Given the description of an element on the screen output the (x, y) to click on. 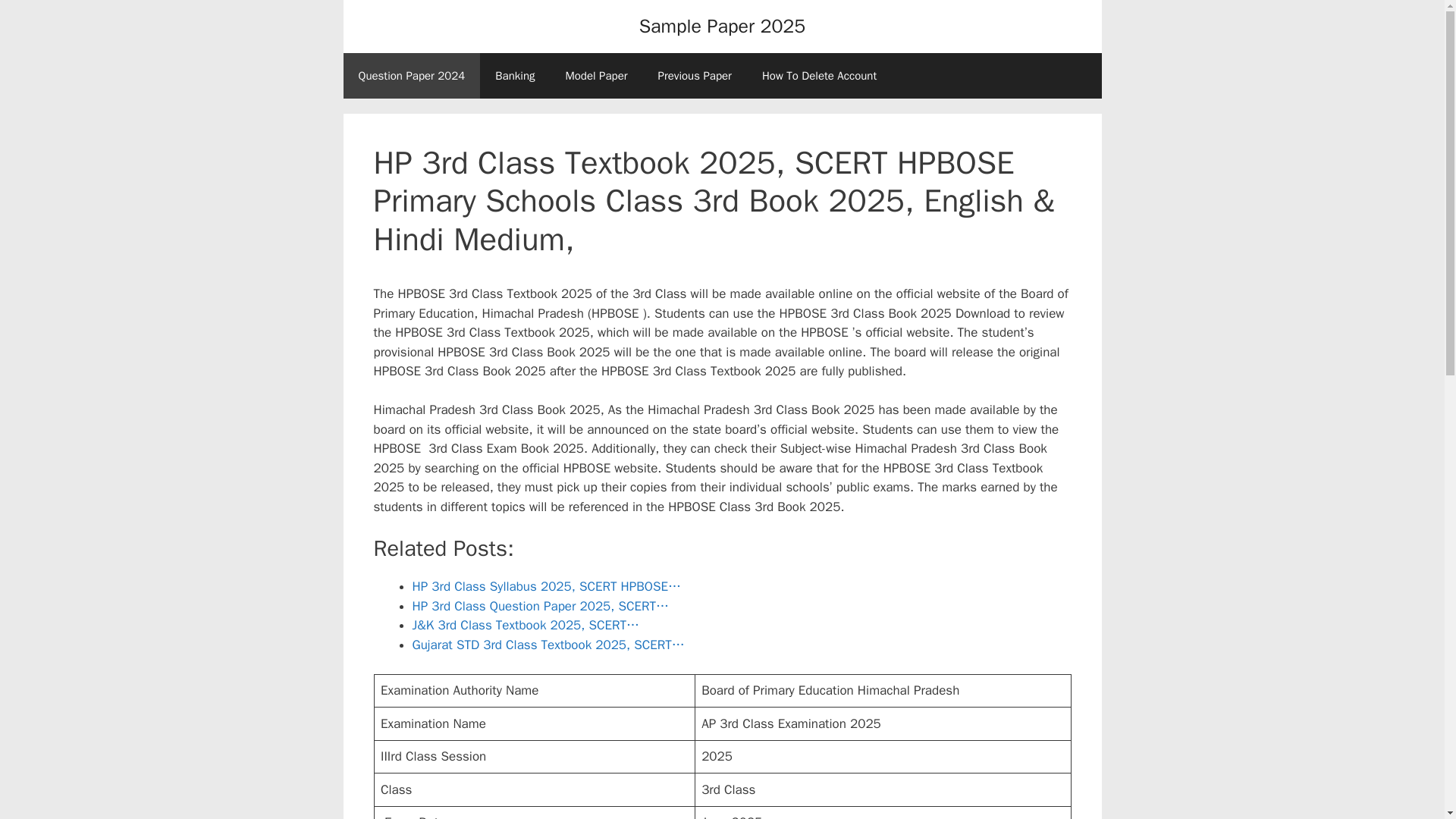
Sample Paper 2025 (722, 25)
Question Paper 2024 (411, 75)
Model Paper (596, 75)
Banking (515, 75)
How To Delete Account (818, 75)
Previous Paper (694, 75)
